Given the description of an element on the screen output the (x, y) to click on. 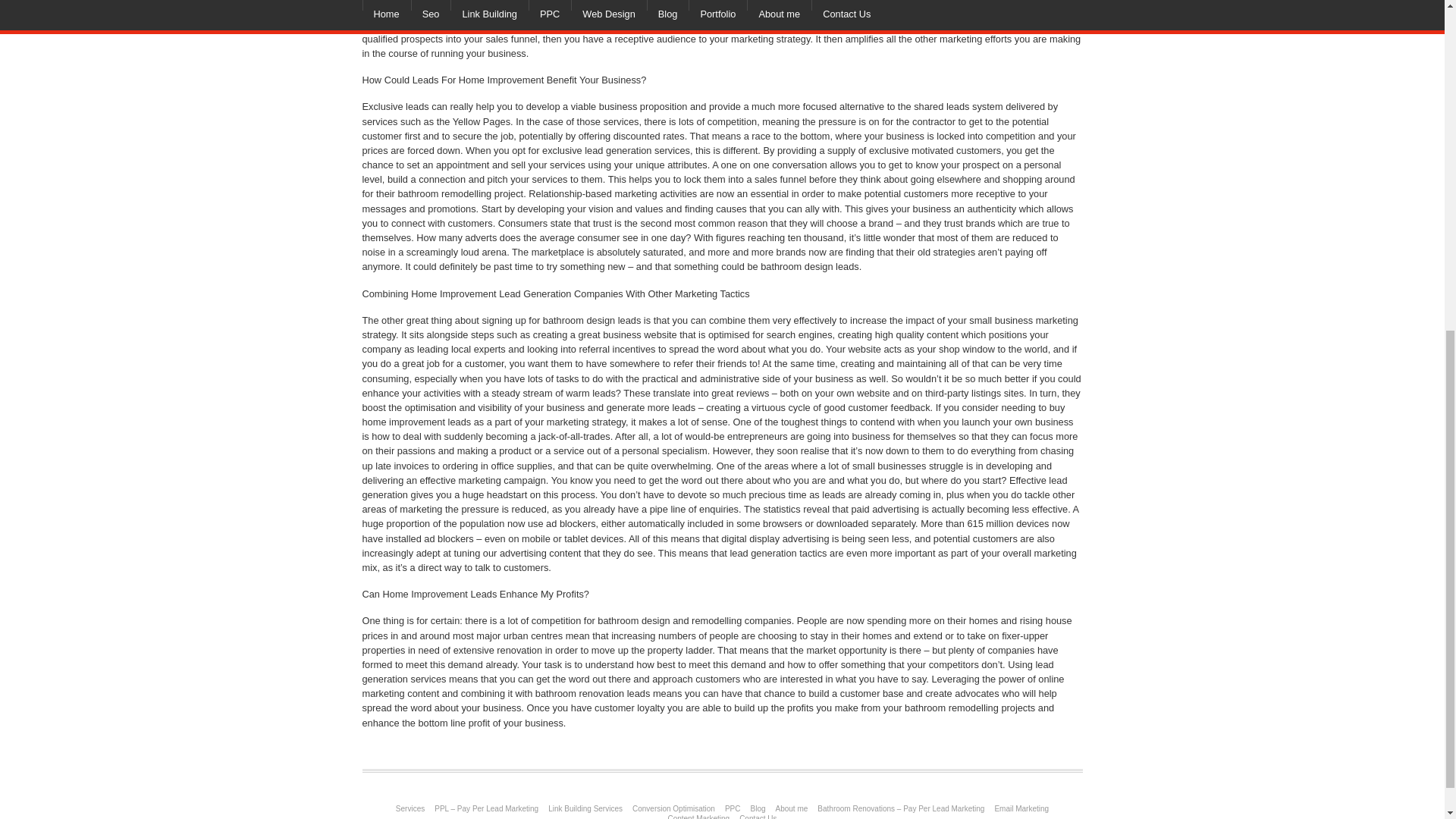
Link Building Services (585, 808)
Services (410, 808)
Conversion Optimisation (672, 808)
PPC (733, 808)
Blog (757, 808)
Email Marketing (1021, 808)
PPC (733, 808)
About me (791, 808)
Services (410, 808)
Conversion Optimisation (672, 808)
Link Building Services (585, 808)
